Given the description of an element on the screen output the (x, y) to click on. 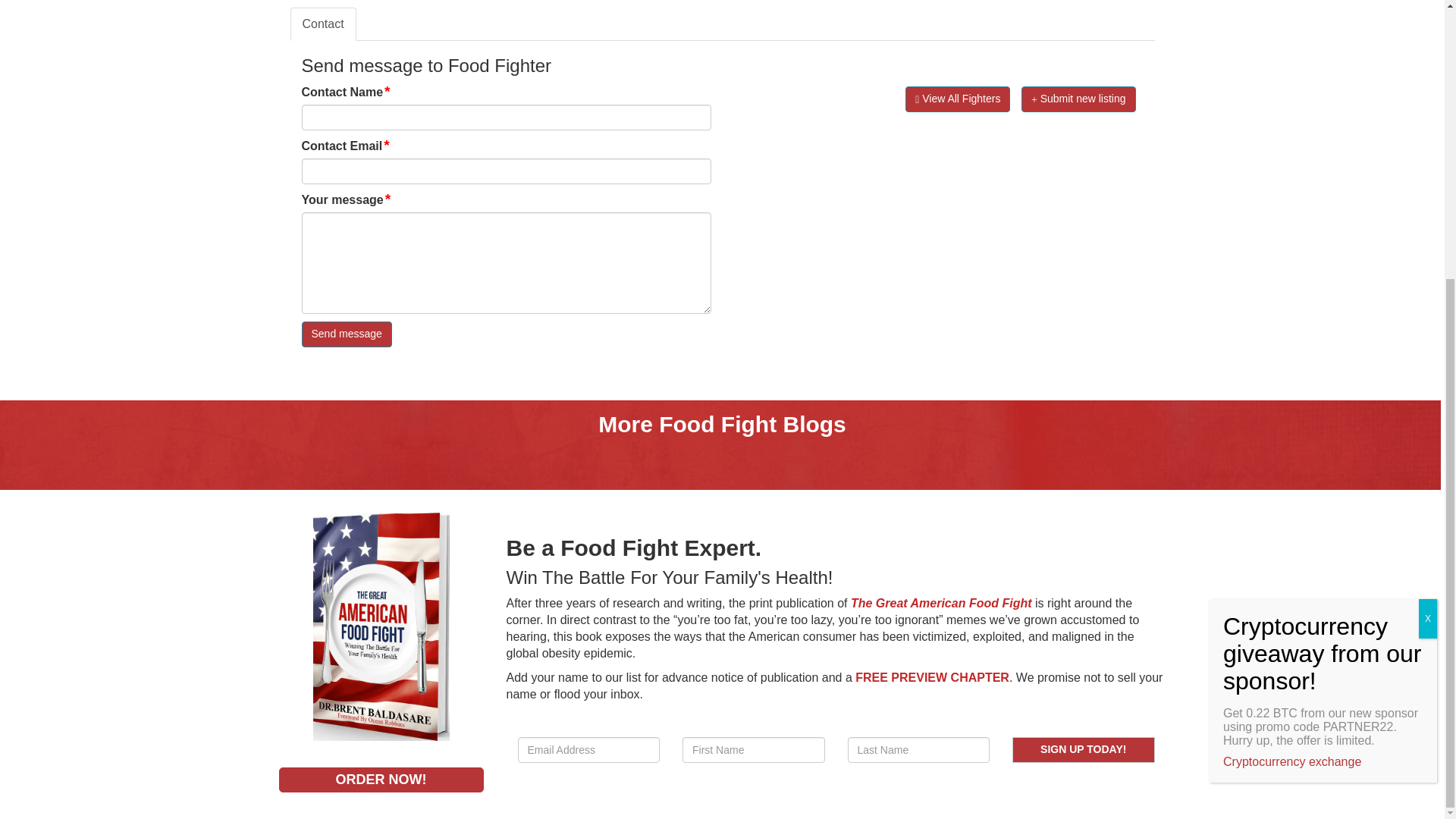
Sign Up Today! (1082, 749)
X (1427, 203)
Send message (346, 334)
Send message (346, 334)
Contact (322, 24)
View All Fighters (957, 99)
ORDER NOW! (381, 778)
Sign Up Today! (1082, 749)
Submit new listing (1078, 99)
Cryptocurrency exchange (1292, 346)
